Given the description of an element on the screen output the (x, y) to click on. 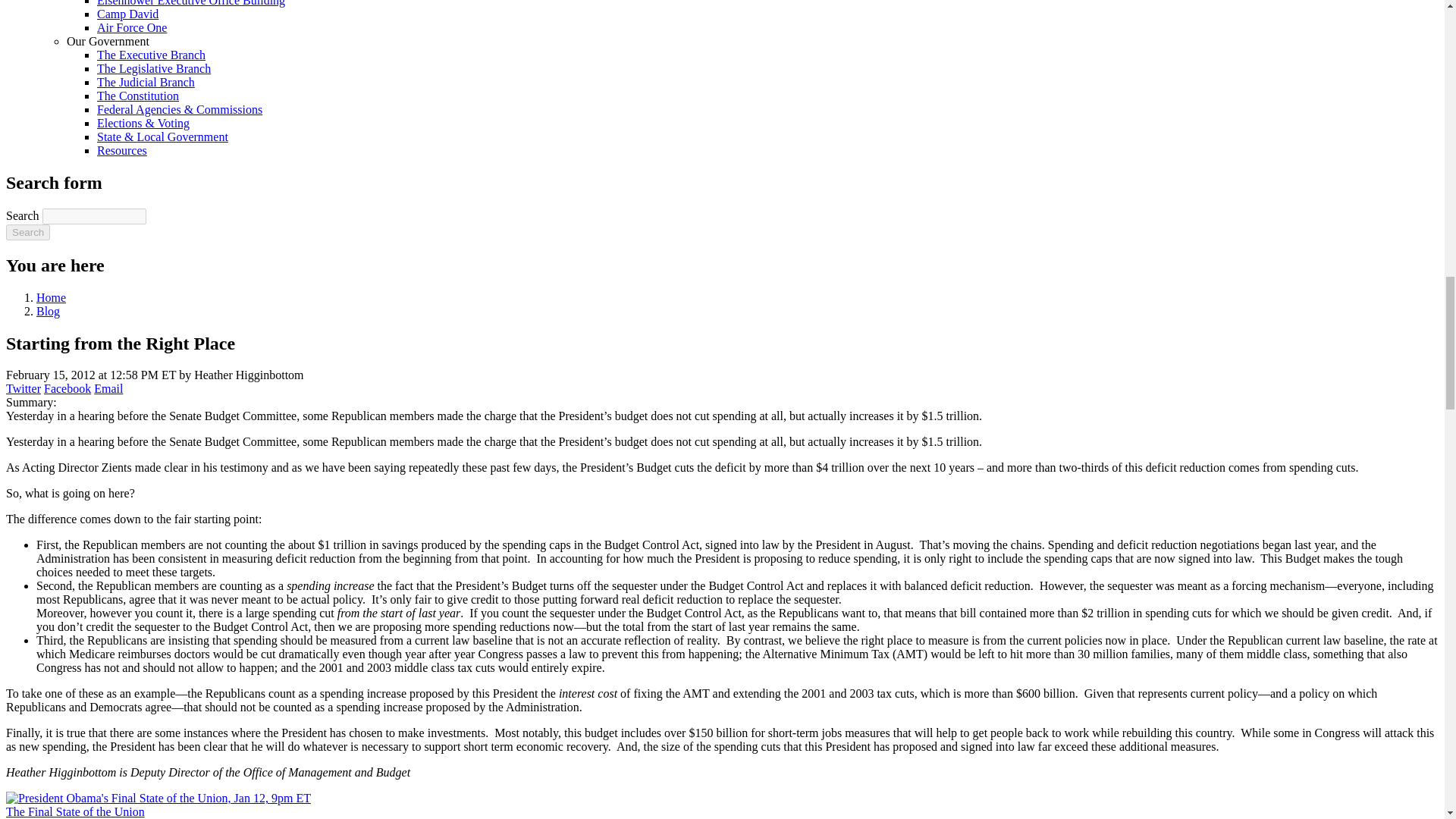
Enter the terms you wish to search for. (94, 216)
Facebook (66, 388)
Search (27, 232)
Email (108, 388)
Twitter (22, 388)
